Given the description of an element on the screen output the (x, y) to click on. 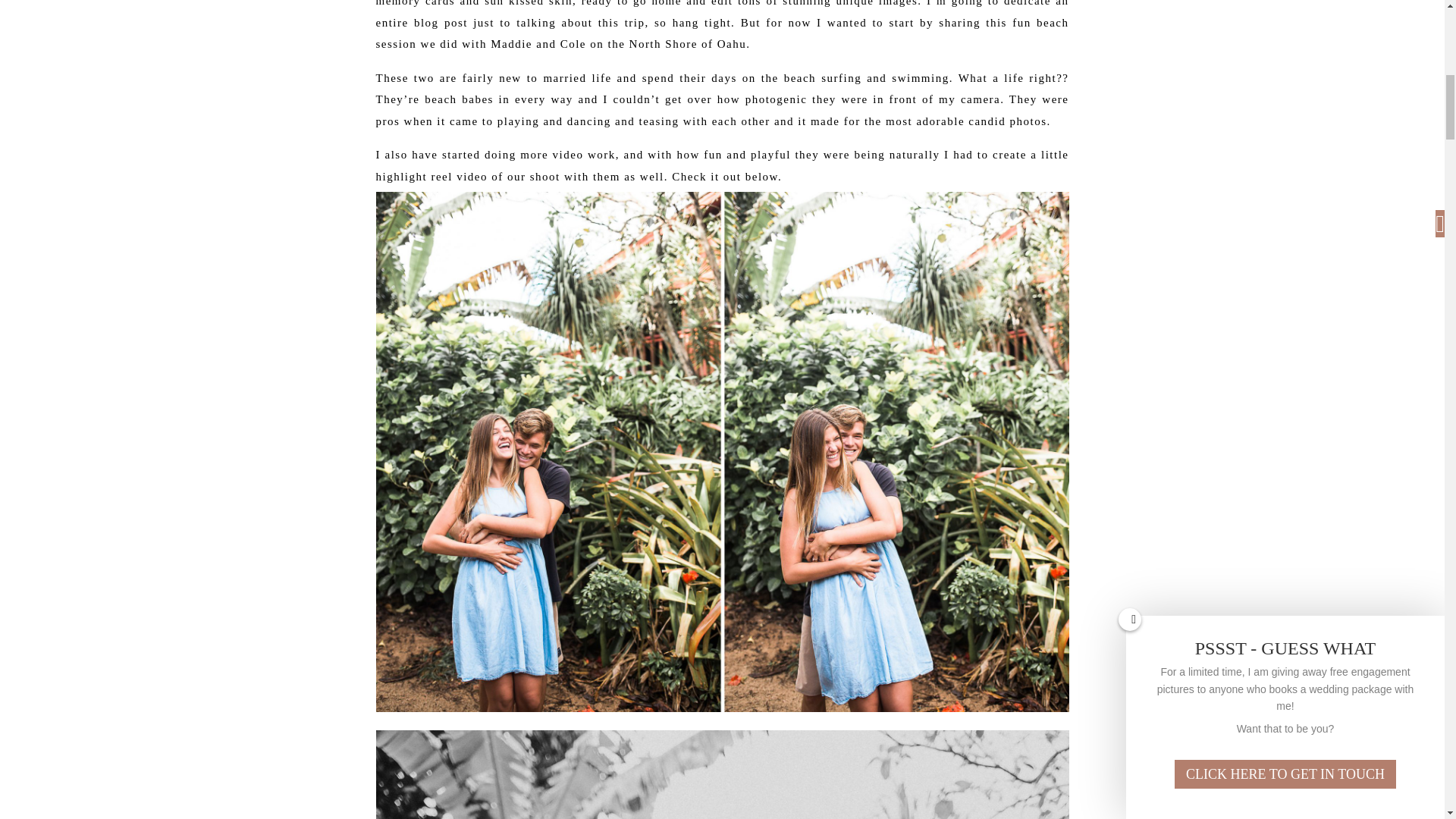
Oahu Wedding Photographer and Videographer (721, 774)
